Given the description of an element on the screen output the (x, y) to click on. 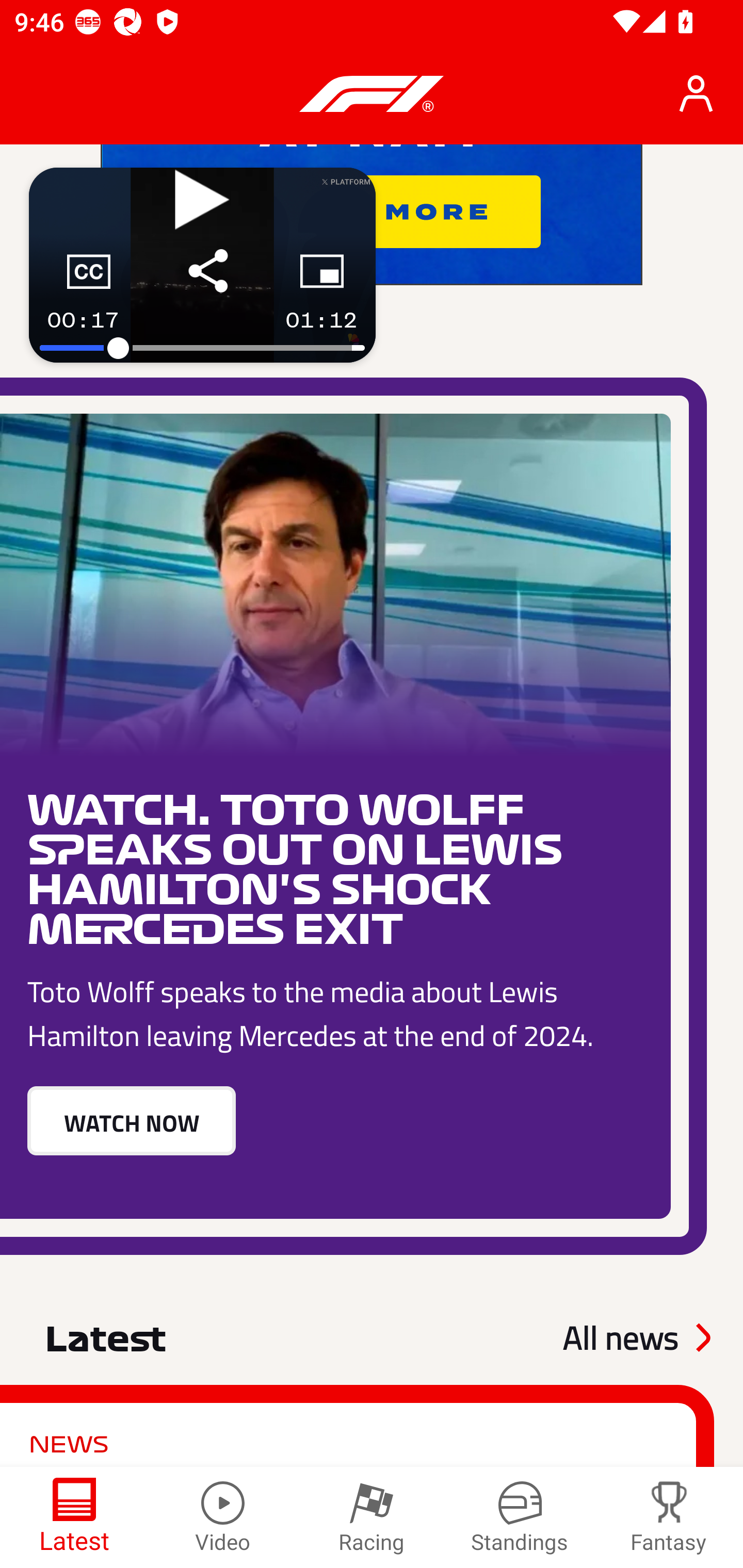
WATCH NOW (131, 1120)
All news See all (635, 1337)
Video (222, 1517)
Racing (371, 1517)
Standings (519, 1517)
Fantasy (668, 1517)
